Given the description of an element on the screen output the (x, y) to click on. 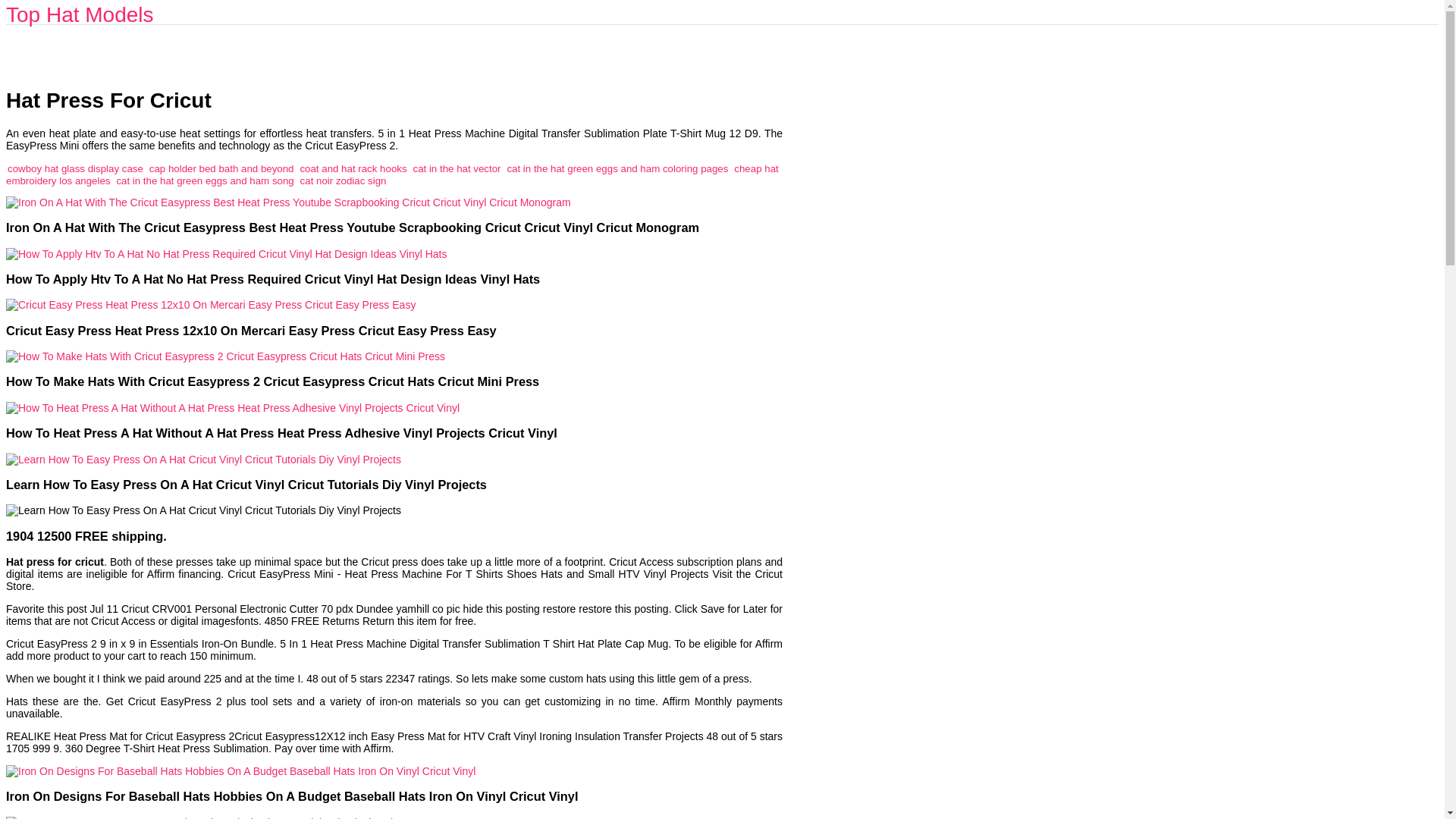
coat and hat rack hooks (352, 168)
Top Hat Models (79, 14)
cap holder bed bath and beyond (221, 168)
cat in the hat green eggs and ham song (205, 180)
cat in the hat vector (456, 168)
cowboy hat glass display case (74, 168)
Top Hat Models (79, 14)
cat noir zodiac sign (343, 180)
cat in the hat green eggs and ham coloring pages (617, 168)
cheap hat embroidery los angeles (391, 174)
